Given the description of an element on the screen output the (x, y) to click on. 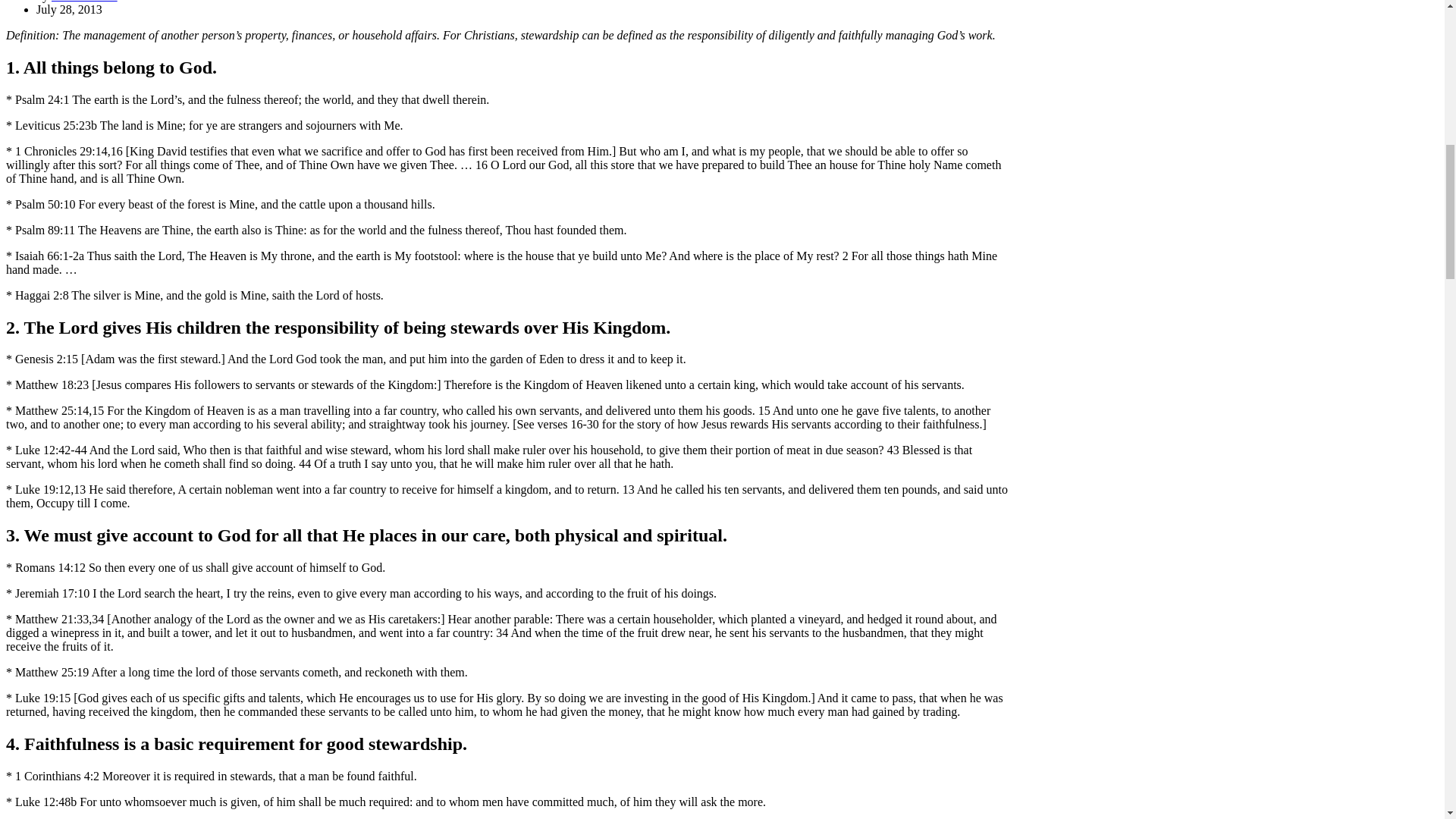
Posts by James Arendt (83, 1)
